Given the description of an element on the screen output the (x, y) to click on. 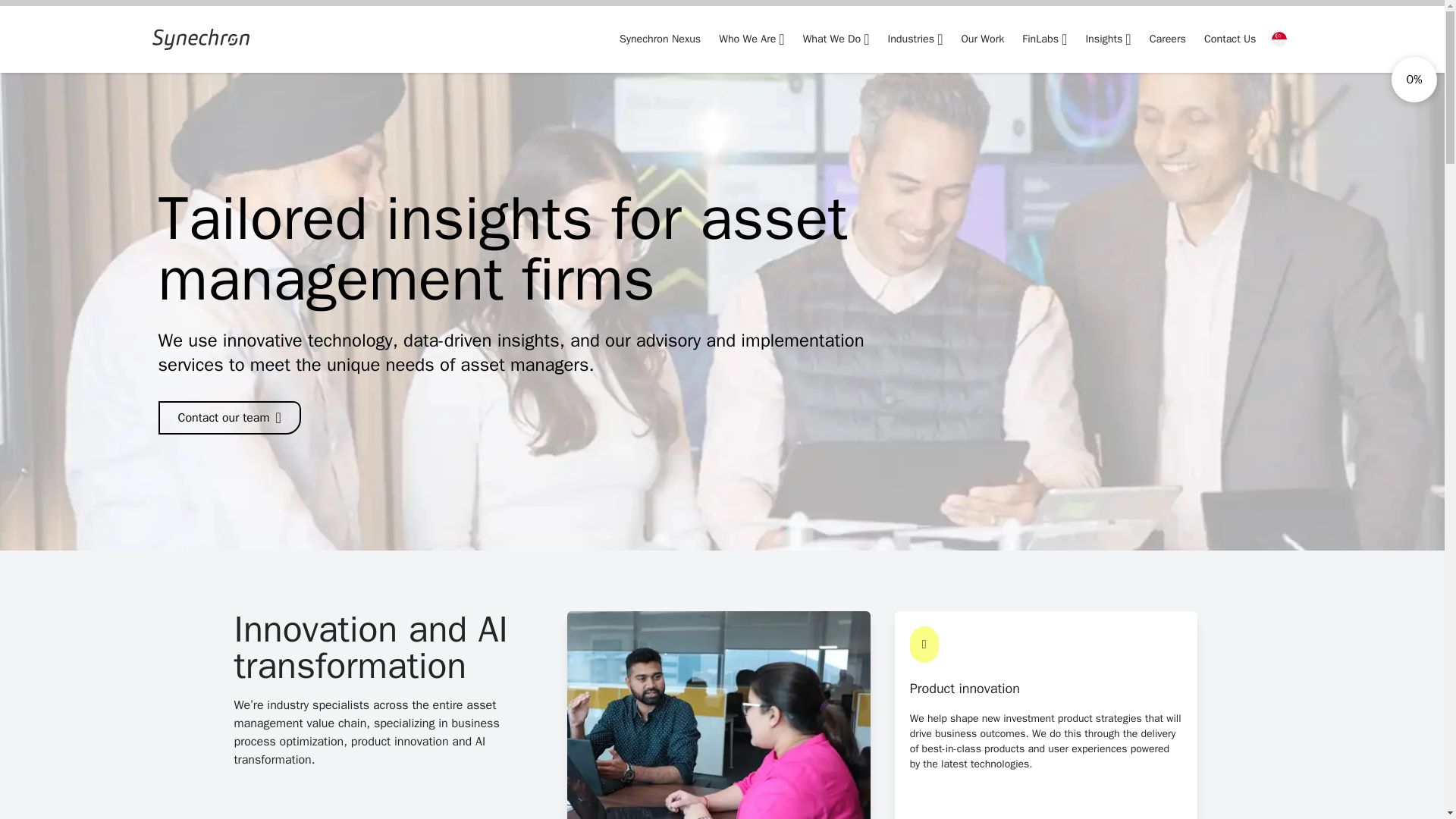
What We Do (836, 38)
Industries (914, 38)
Synechron Nexus (660, 38)
Careers (1167, 38)
Insights (1107, 38)
Our Work (982, 38)
Who We Are (751, 38)
Contact Us (1230, 38)
FinLabs (1044, 38)
